Given the description of an element on the screen output the (x, y) to click on. 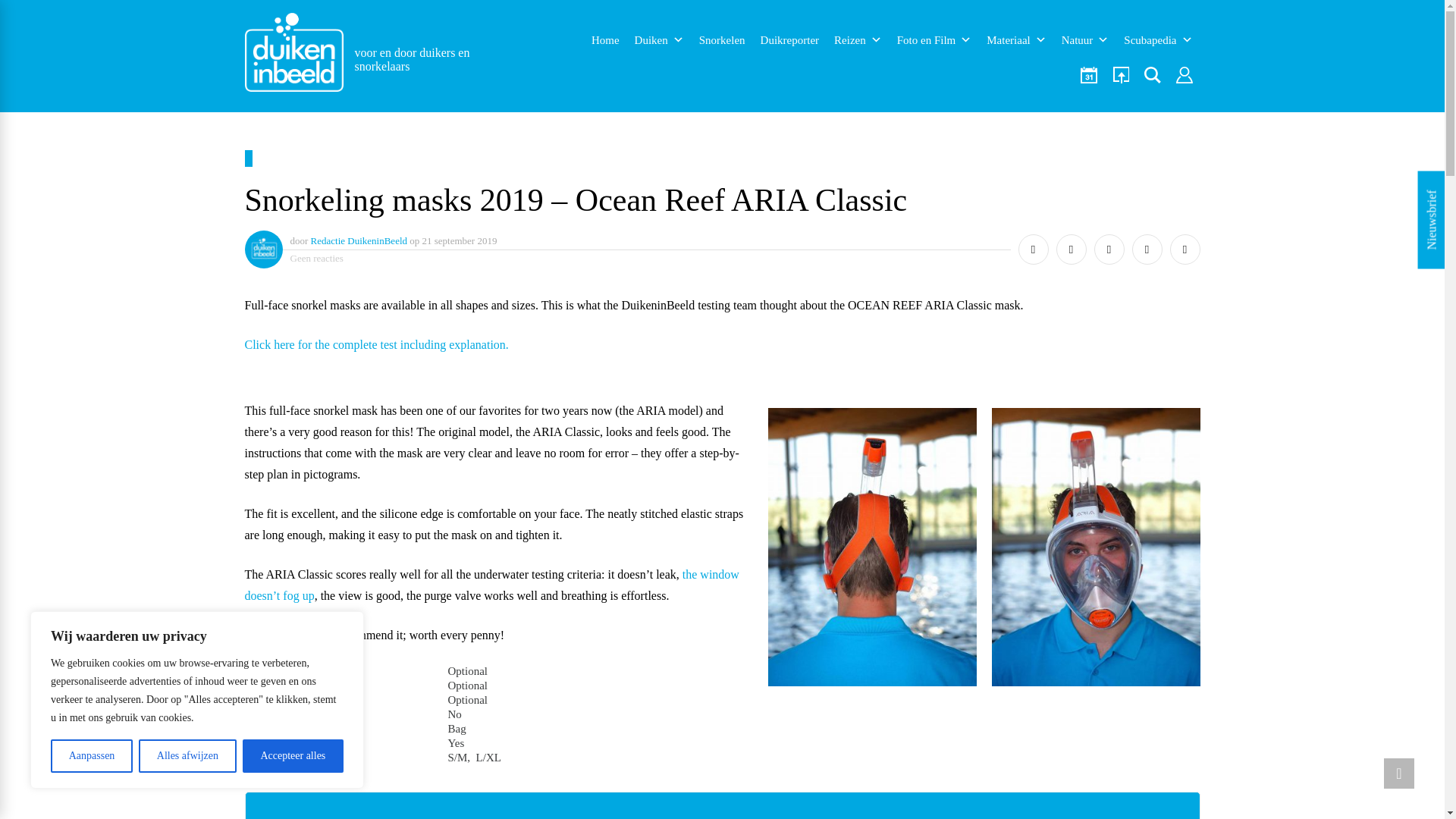
DuikeninBeeld (293, 56)
Tweet This Post (1070, 249)
Aanpassen (91, 756)
Alles afwijzen (186, 756)
Share on Facebook (1032, 249)
Accepteer alles (293, 756)
